Given the description of an element on the screen output the (x, y) to click on. 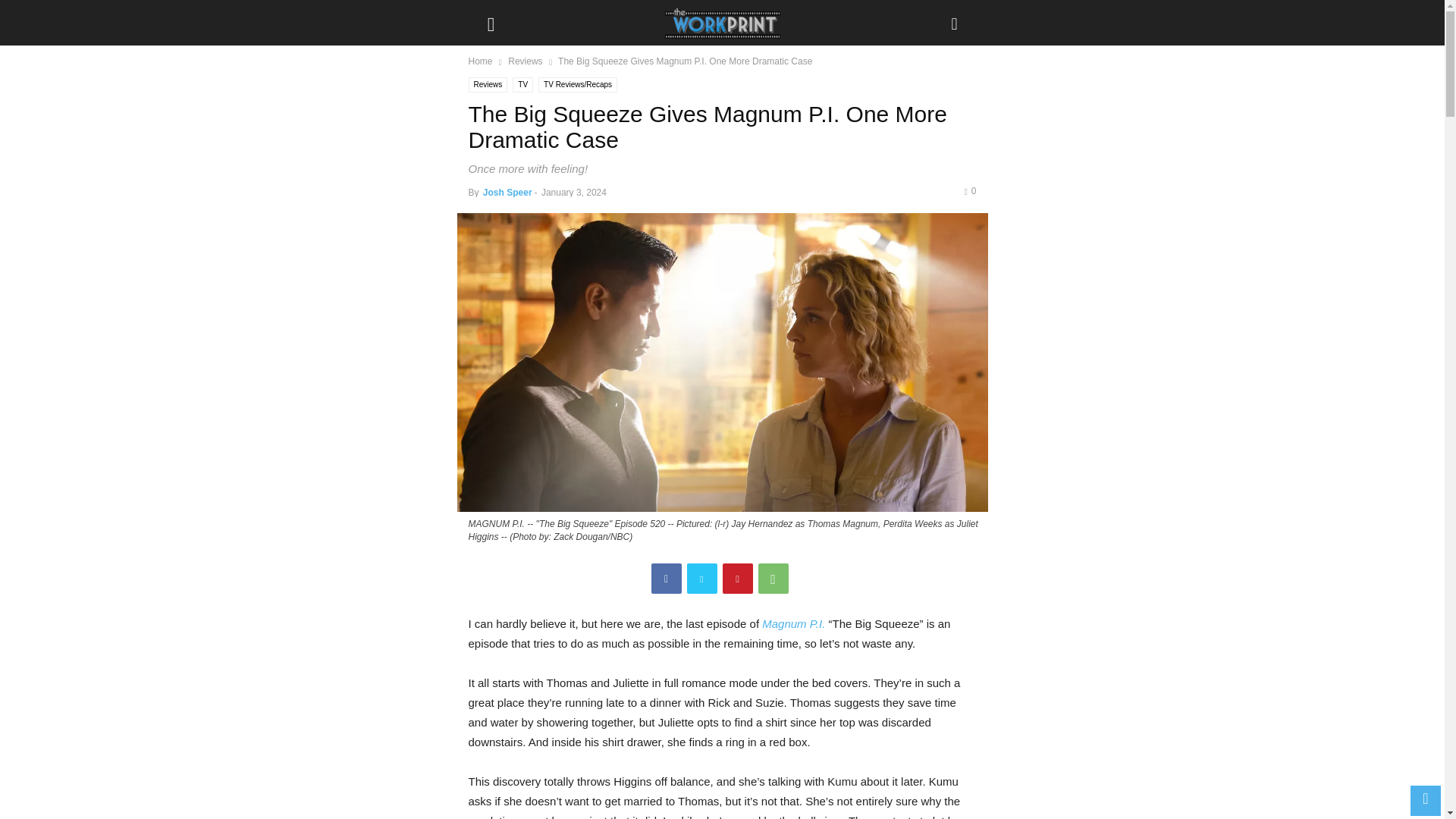
Twitter (702, 578)
Reviews (524, 61)
Magnum P.I. (793, 623)
WhatsApp (773, 578)
Pinterest (737, 578)
Facebook (665, 578)
0 (969, 190)
Reviews (488, 84)
Home (480, 61)
